Given the description of an element on the screen output the (x, y) to click on. 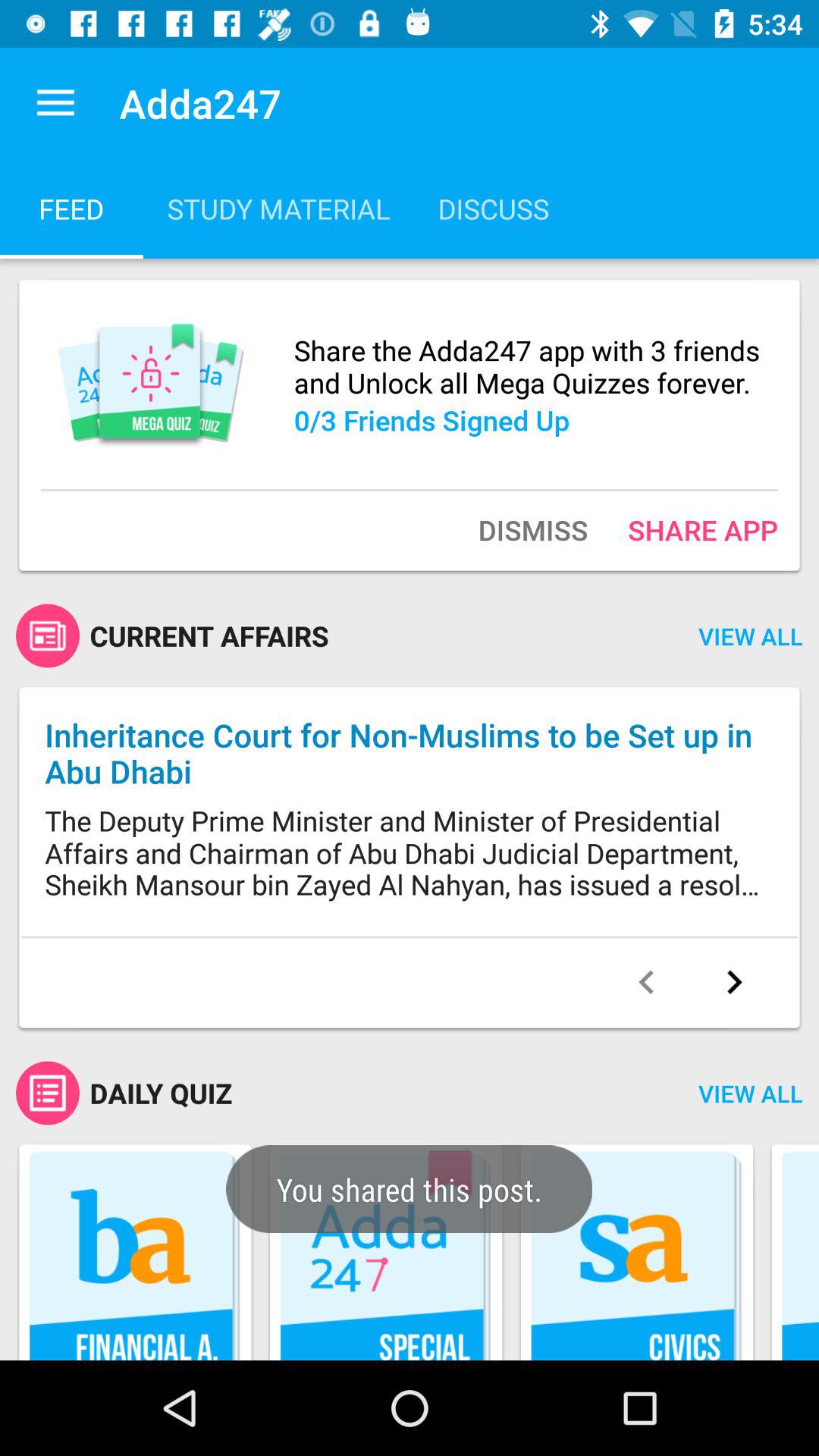
go next (734, 982)
